Given the description of an element on the screen output the (x, y) to click on. 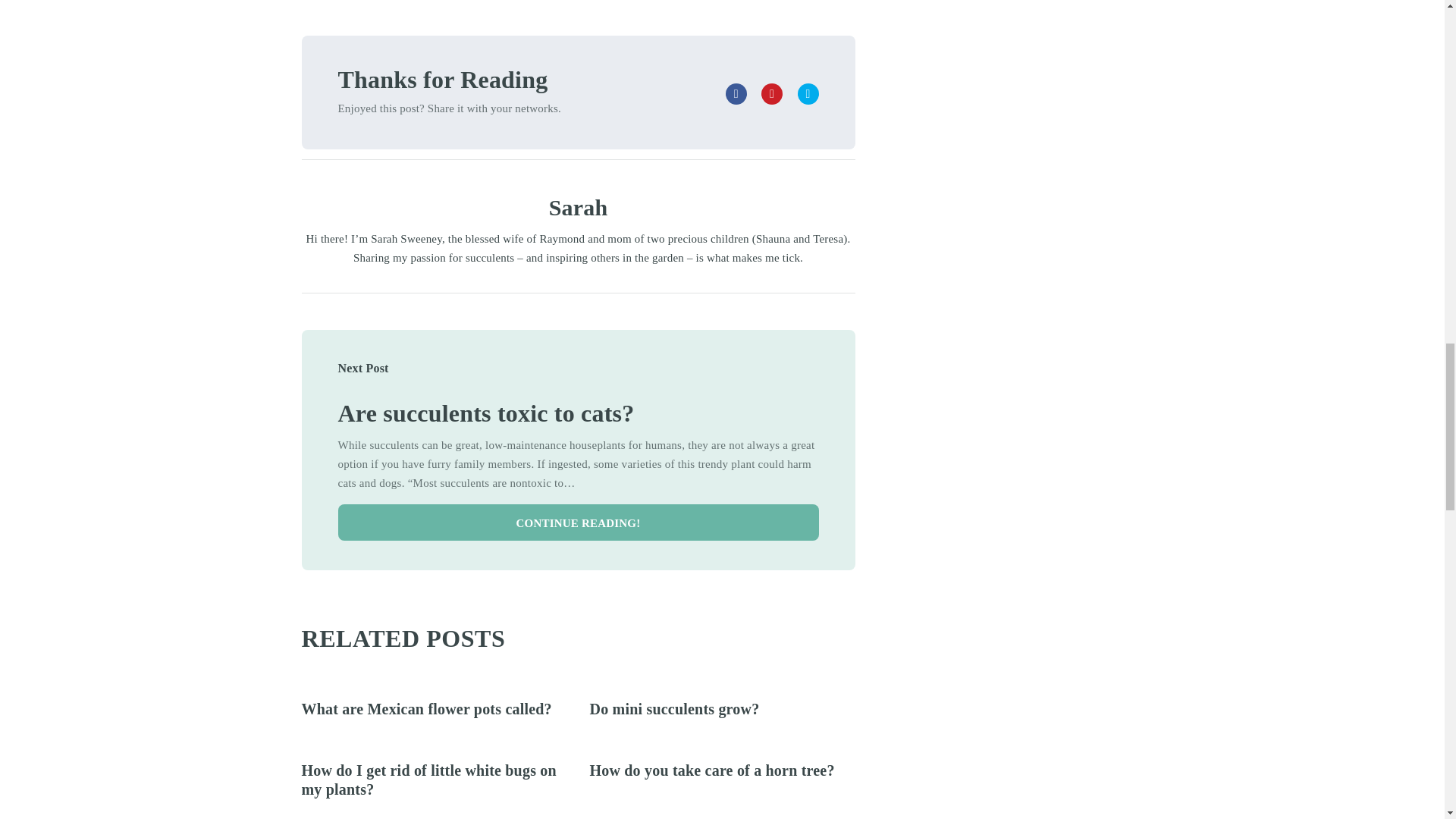
How do you take care of a horn tree? (711, 770)
How do I get rid of little white bugs on my plants? (428, 779)
How do you take care of a horn tree? (711, 770)
Do mini succulents grow? (674, 709)
Can you put cuttings straight into soil? (485, 412)
CONTINUE READING! (577, 522)
What are Mexican flower pots called? (426, 709)
Do mini succulents grow? (674, 709)
Sarah (578, 207)
Are succulents toxic to cats? (485, 412)
